Given the description of an element on the screen output the (x, y) to click on. 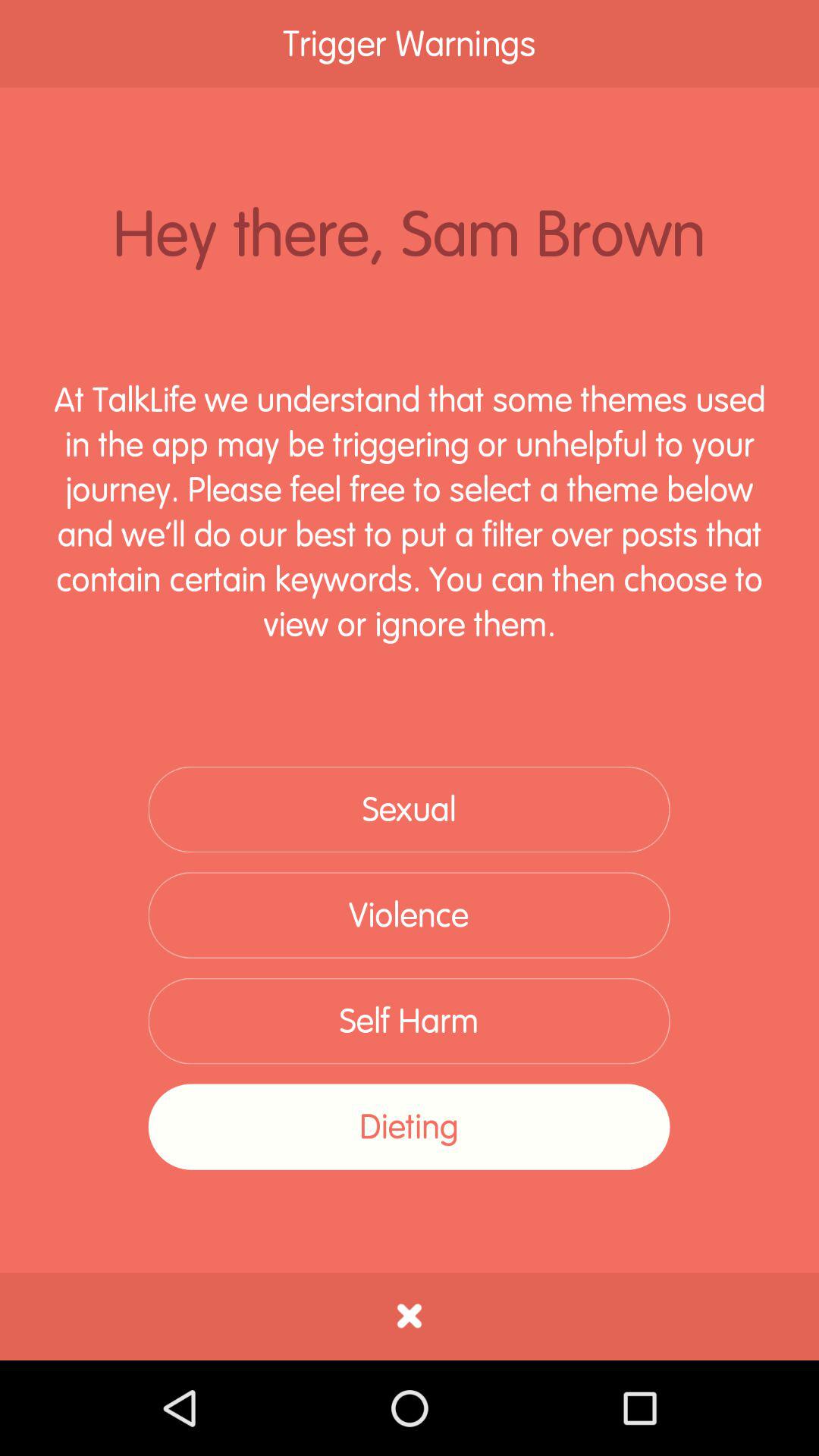
click self harm icon (408, 1021)
